Given the description of an element on the screen output the (x, y) to click on. 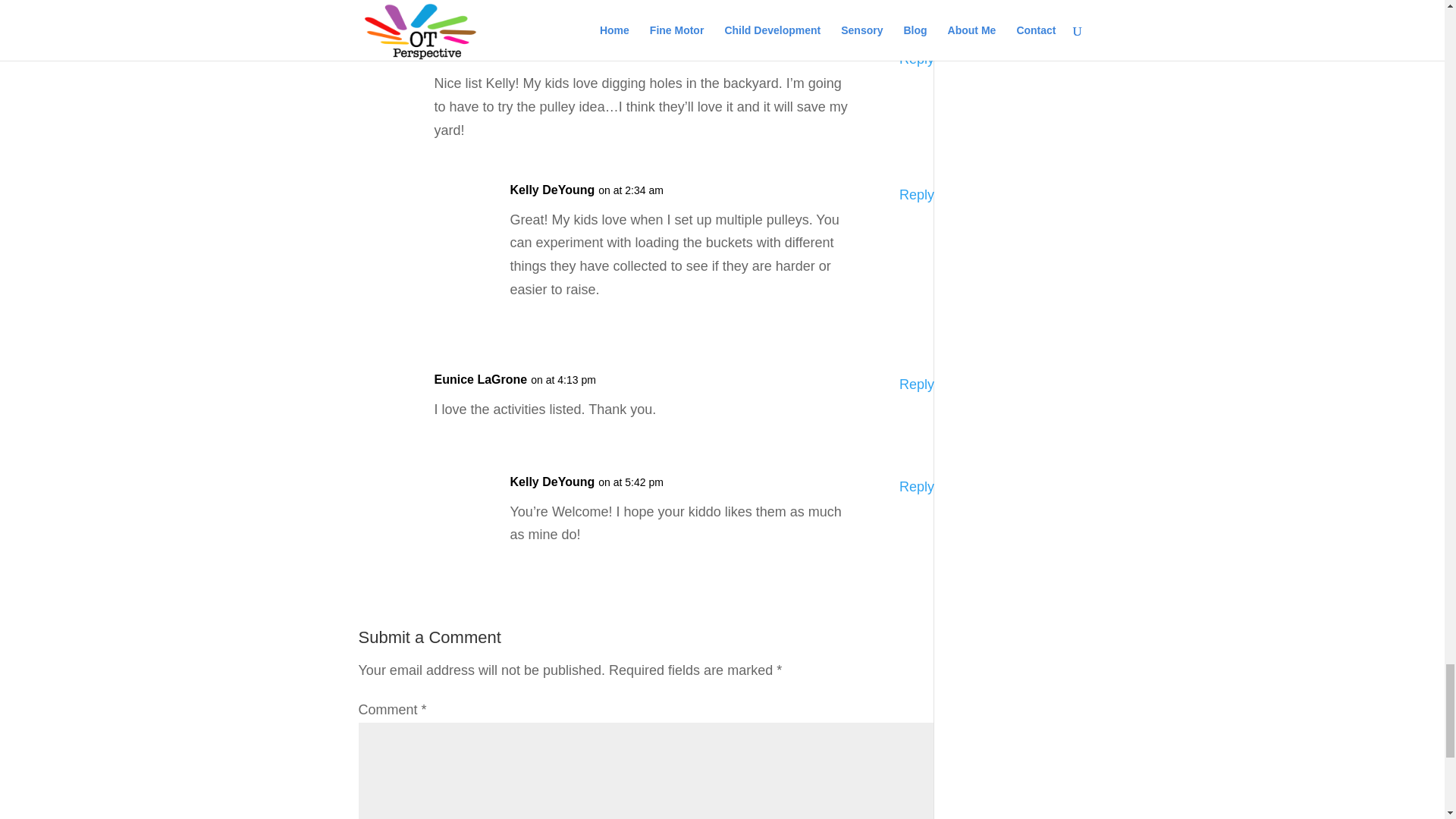
Kelly DeYoung (551, 482)
Reply (916, 195)
Reply (916, 59)
Reply (916, 486)
Melanie (456, 54)
Reply (916, 384)
Kelly DeYoung (551, 190)
